Given the description of an element on the screen output the (x, y) to click on. 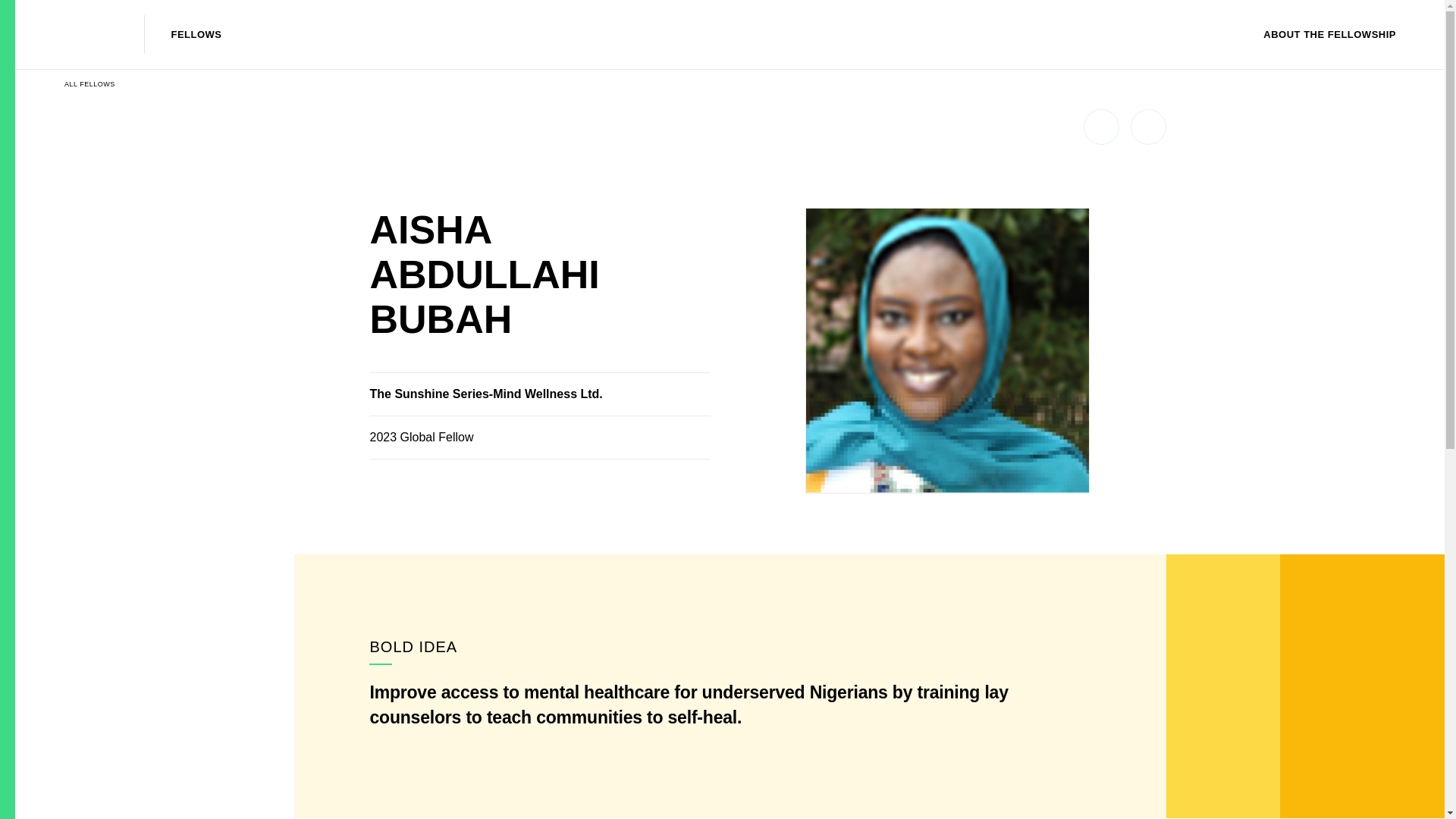
ABOUT THE FELLOWSHIP (1334, 35)
ALL FELLOWS (83, 83)
